Given the description of an element on the screen output the (x, y) to click on. 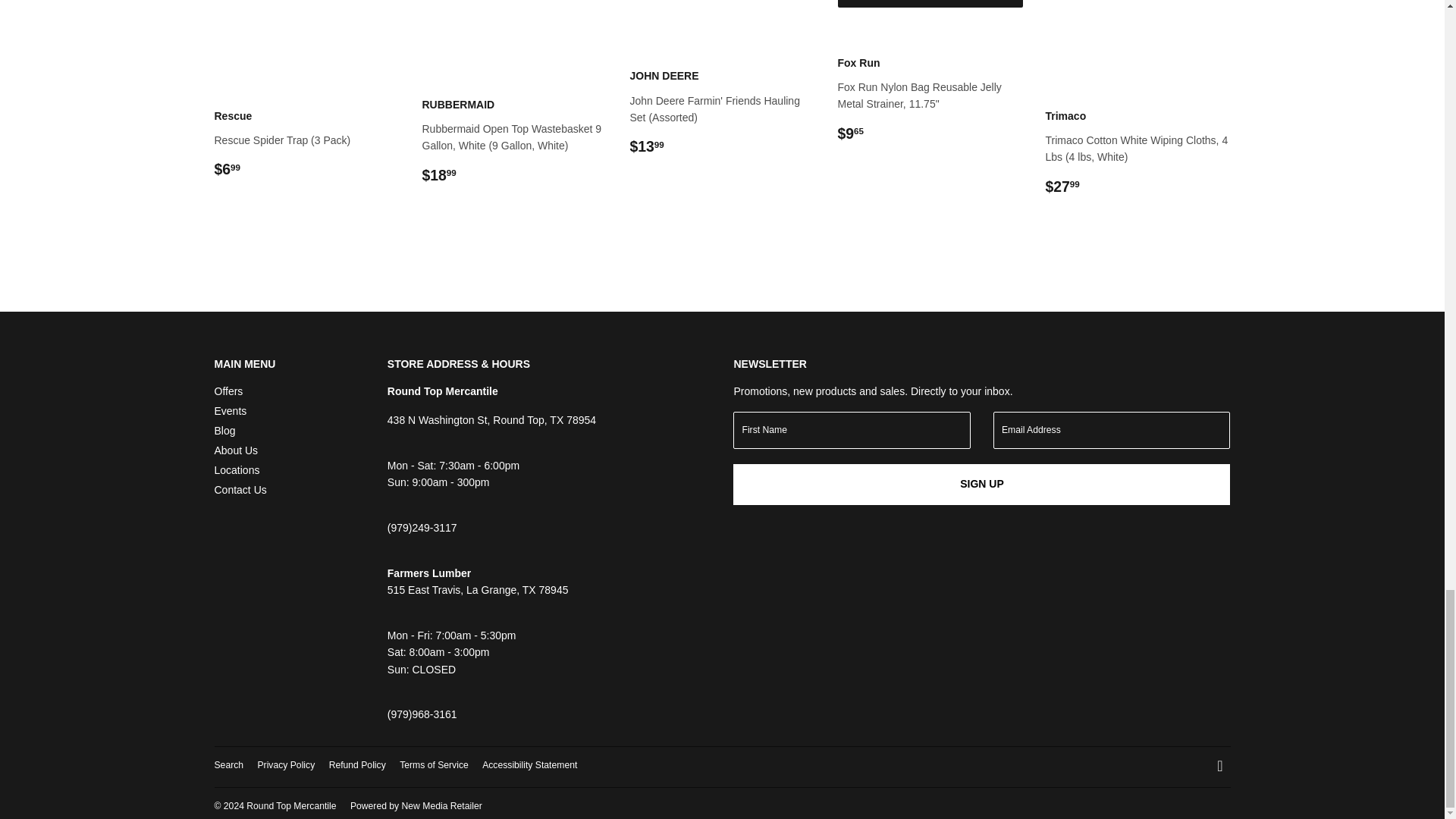
New Media Retailer (415, 805)
